Given the description of an element on the screen output the (x, y) to click on. 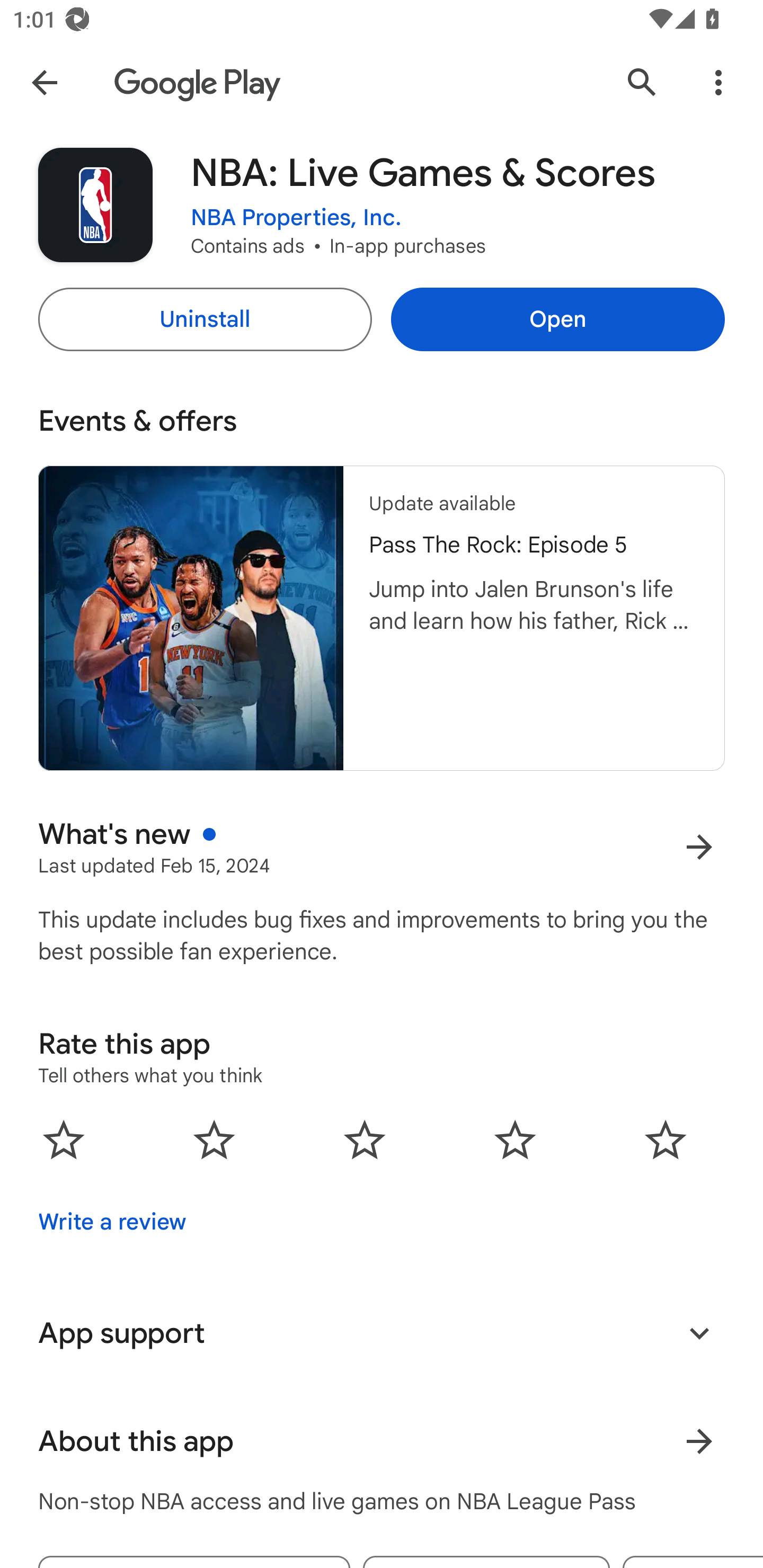
Navigate up (44, 81)
Search Google Play (642, 81)
More Options (718, 81)
NBA Properties, Inc. (295, 217)
Uninstall (205, 318)
Open (557, 318)
More results for What's new (699, 847)
0.0 (364, 1138)
Write a review (112, 1221)
App support Expand (381, 1333)
Expand (699, 1333)
About this app Learn more About this app (381, 1441)
Learn more About this app (699, 1441)
